Given the description of an element on the screen output the (x, y) to click on. 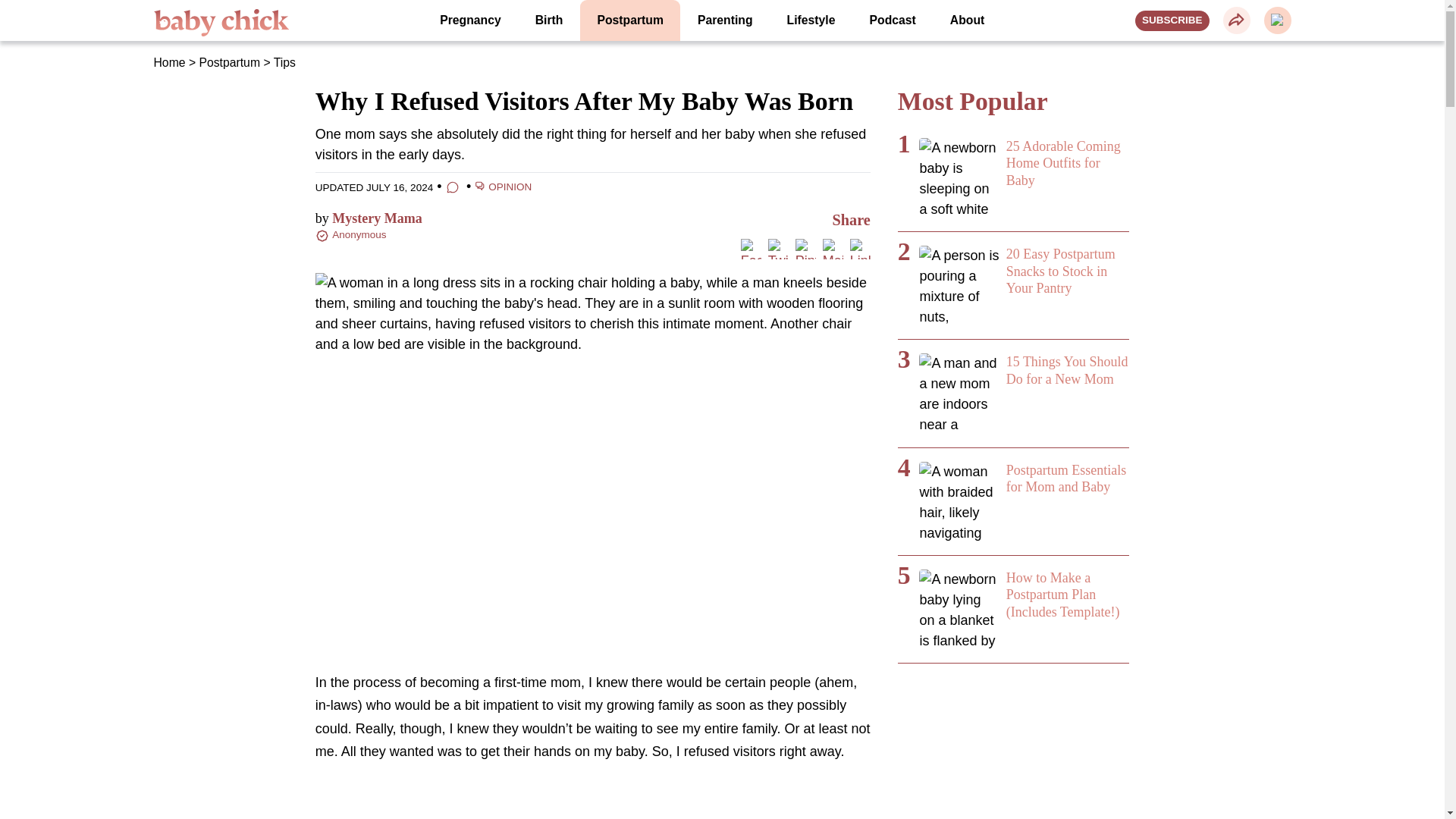
Pregnancy (470, 20)
Birth (548, 20)
